Given the description of an element on the screen output the (x, y) to click on. 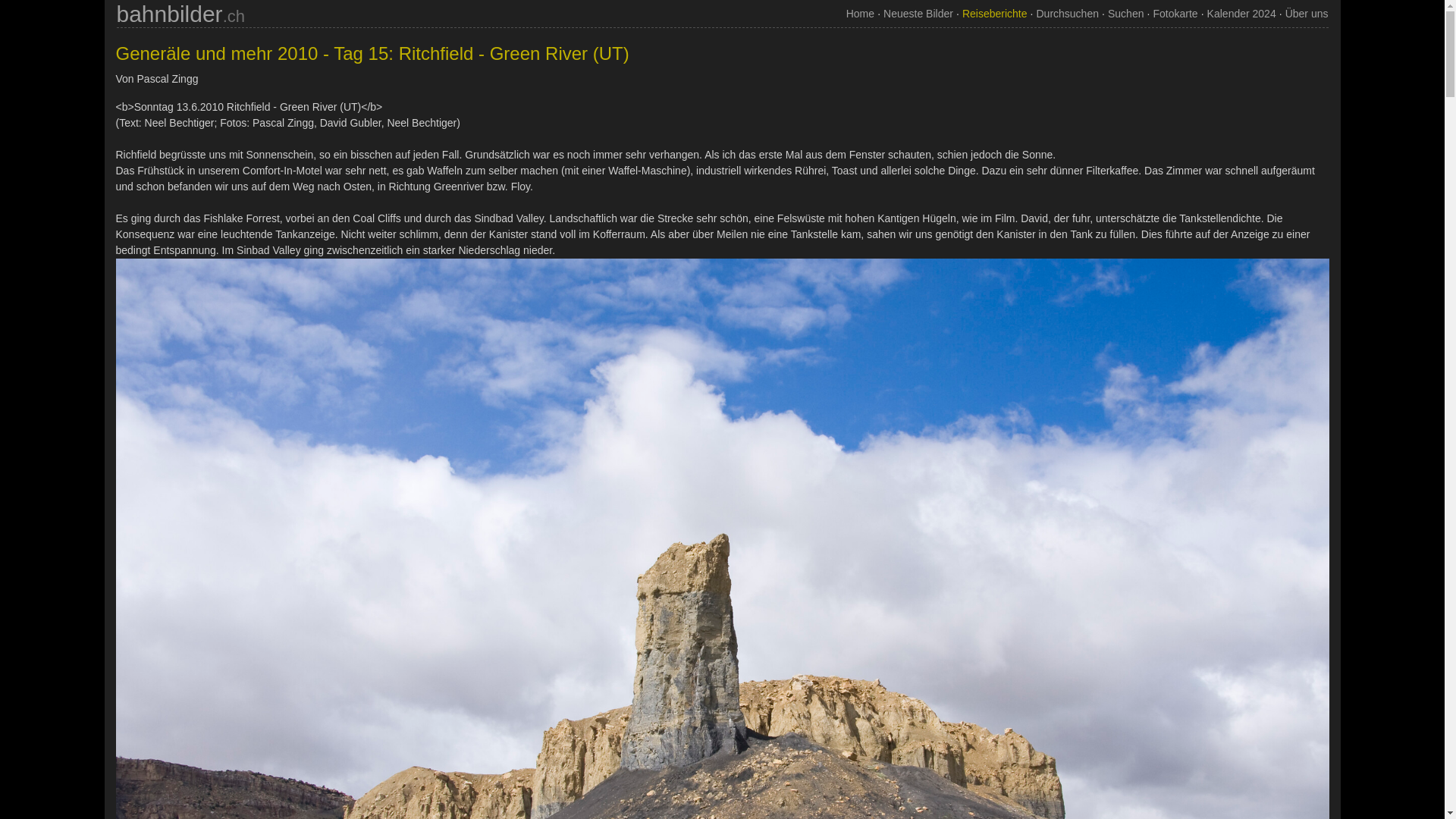
bahnbilder.ch Element type: text (180, 18)
Suchen Element type: text (1125, 13)
Kalender 2024 Element type: text (1241, 13)
Home Element type: text (860, 13)
Durchsuchen Element type: text (1066, 13)
Neueste Bilder Element type: text (918, 13)
Fotokarte Element type: text (1174, 13)
Reiseberichte Element type: text (994, 13)
